Given the description of an element on the screen output the (x, y) to click on. 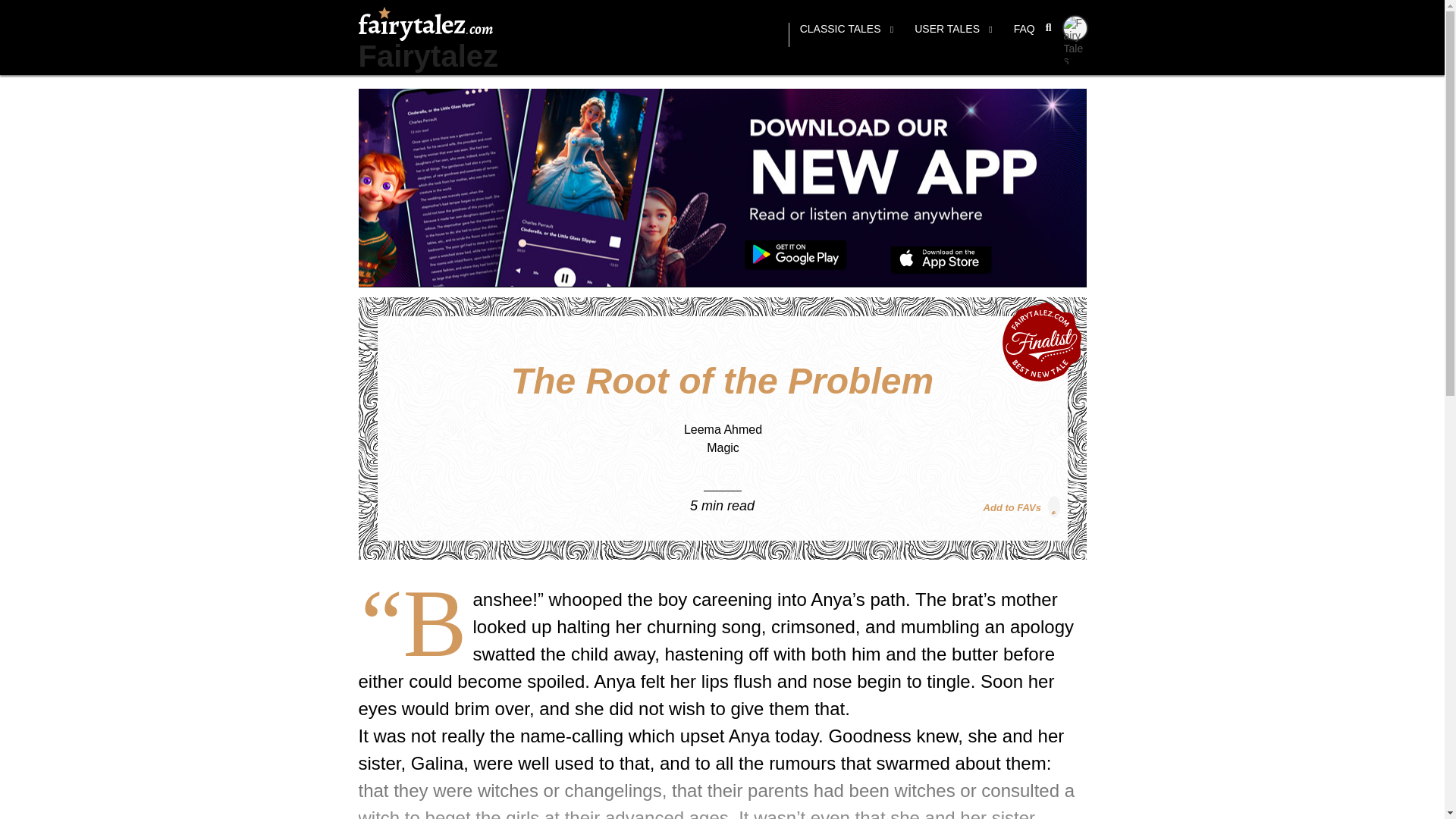
Fairytalez audio book android app (795, 255)
View all items in Magic (722, 447)
USER TALES (953, 34)
Add to FAVs (1021, 506)
FAQ (1024, 34)
Magic (722, 447)
CLASSIC TALES (846, 34)
Fairytalez (427, 55)
Fairytalez audio book ios app (940, 260)
Leema Ahmed (722, 429)
